Given the description of an element on the screen output the (x, y) to click on. 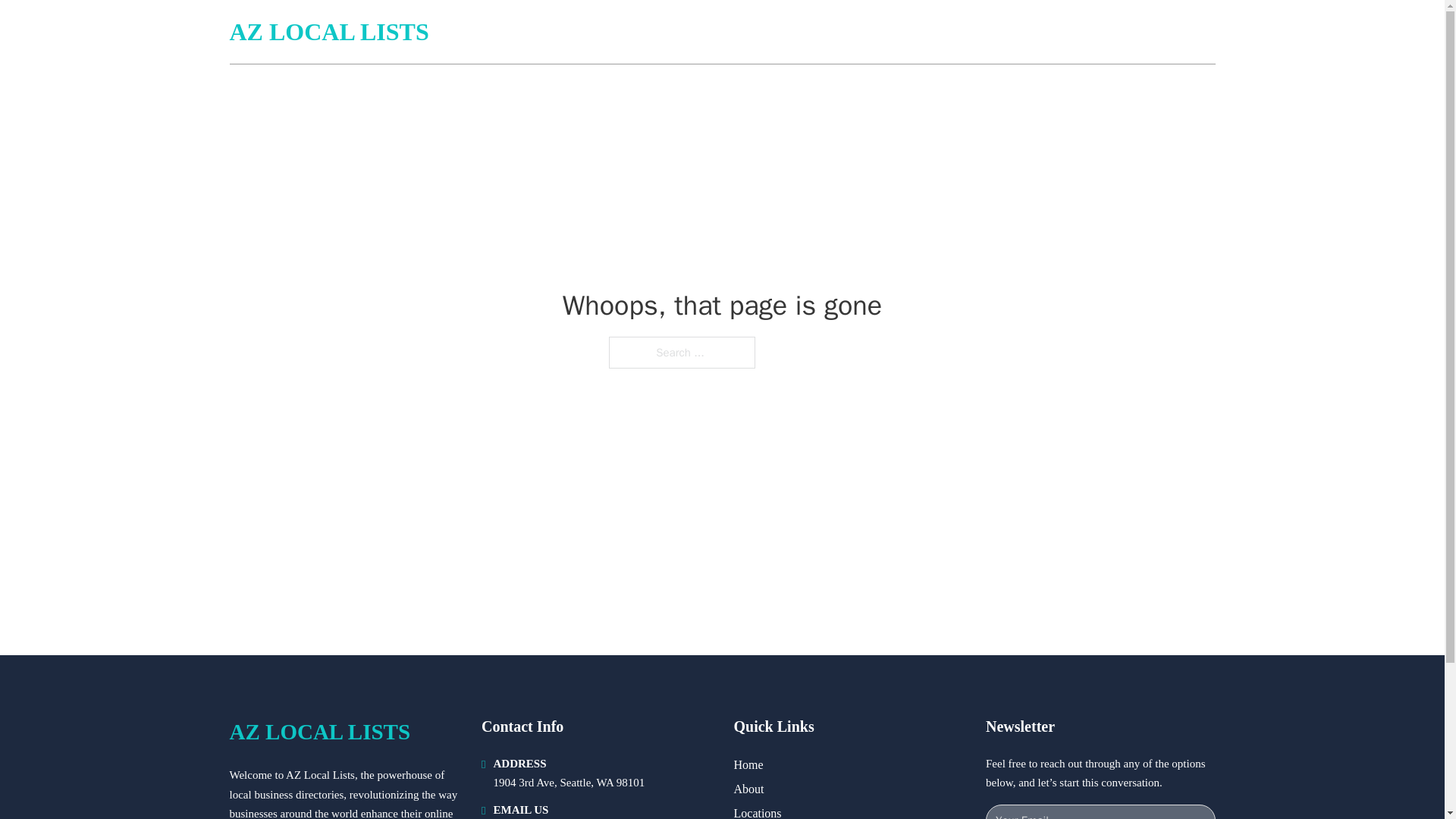
HOME (1010, 31)
AZ LOCAL LISTS (319, 732)
Locations (757, 811)
AZ LOCAL LISTS (328, 31)
LOCATIONS (1082, 31)
About (748, 788)
Home (747, 764)
